Given the description of an element on the screen output the (x, y) to click on. 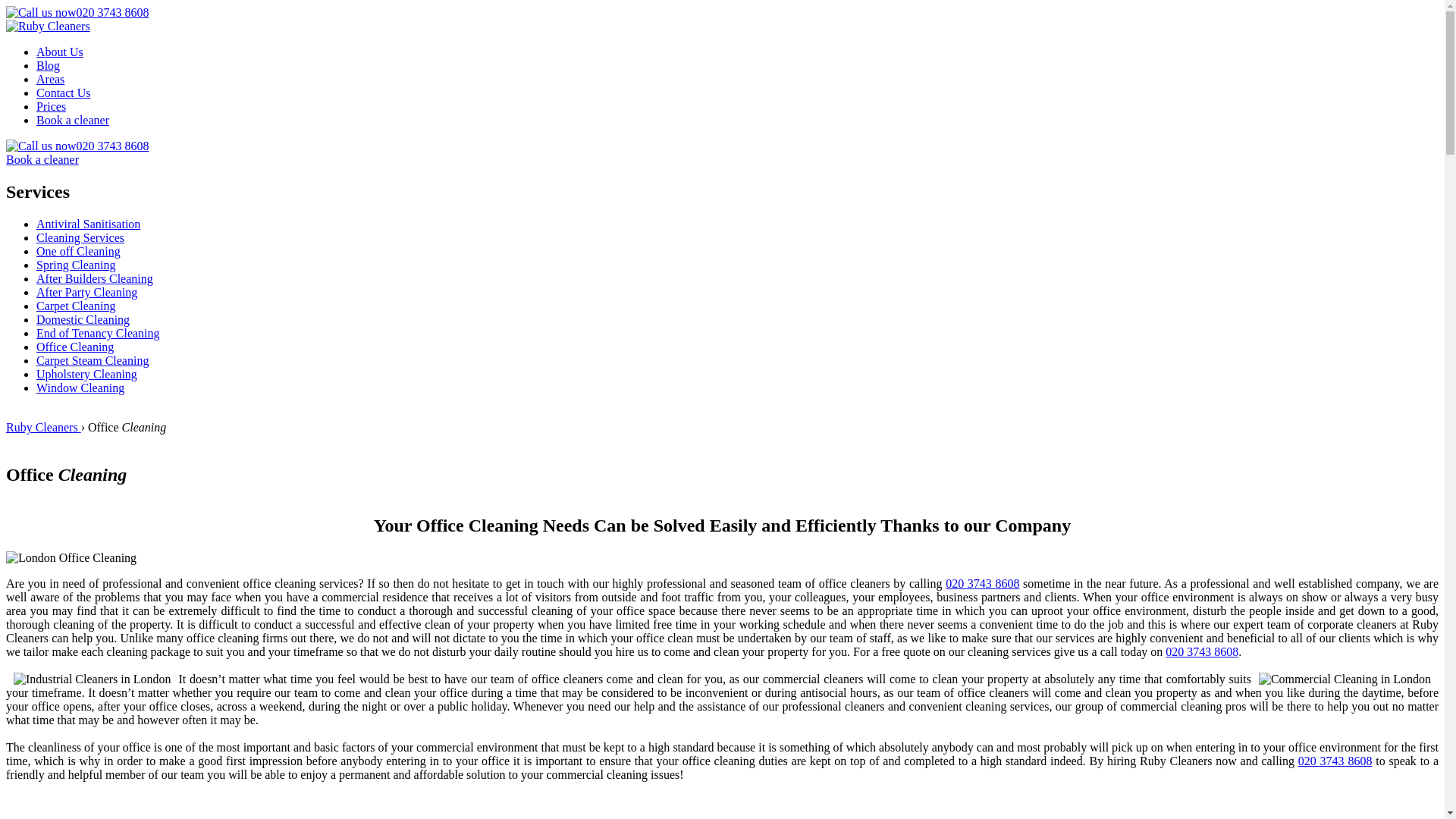
About Us (59, 51)
Carpet Steam Cleaning (92, 359)
Book a cleaner (72, 119)
Ruby Cleaners (43, 427)
Antiviral Sanitisation (87, 223)
Carpet Cleaning (75, 305)
Upholstery Cleaning (86, 373)
Book a cleaner (41, 159)
Blog (47, 65)
020 3743 8608 (981, 583)
020 3743 8608 (1335, 760)
Ruby Cleaners (47, 25)
Cleaning Services (79, 237)
020 3743 8608 (76, 145)
Window Cleaning (79, 387)
